Given the description of an element on the screen output the (x, y) to click on. 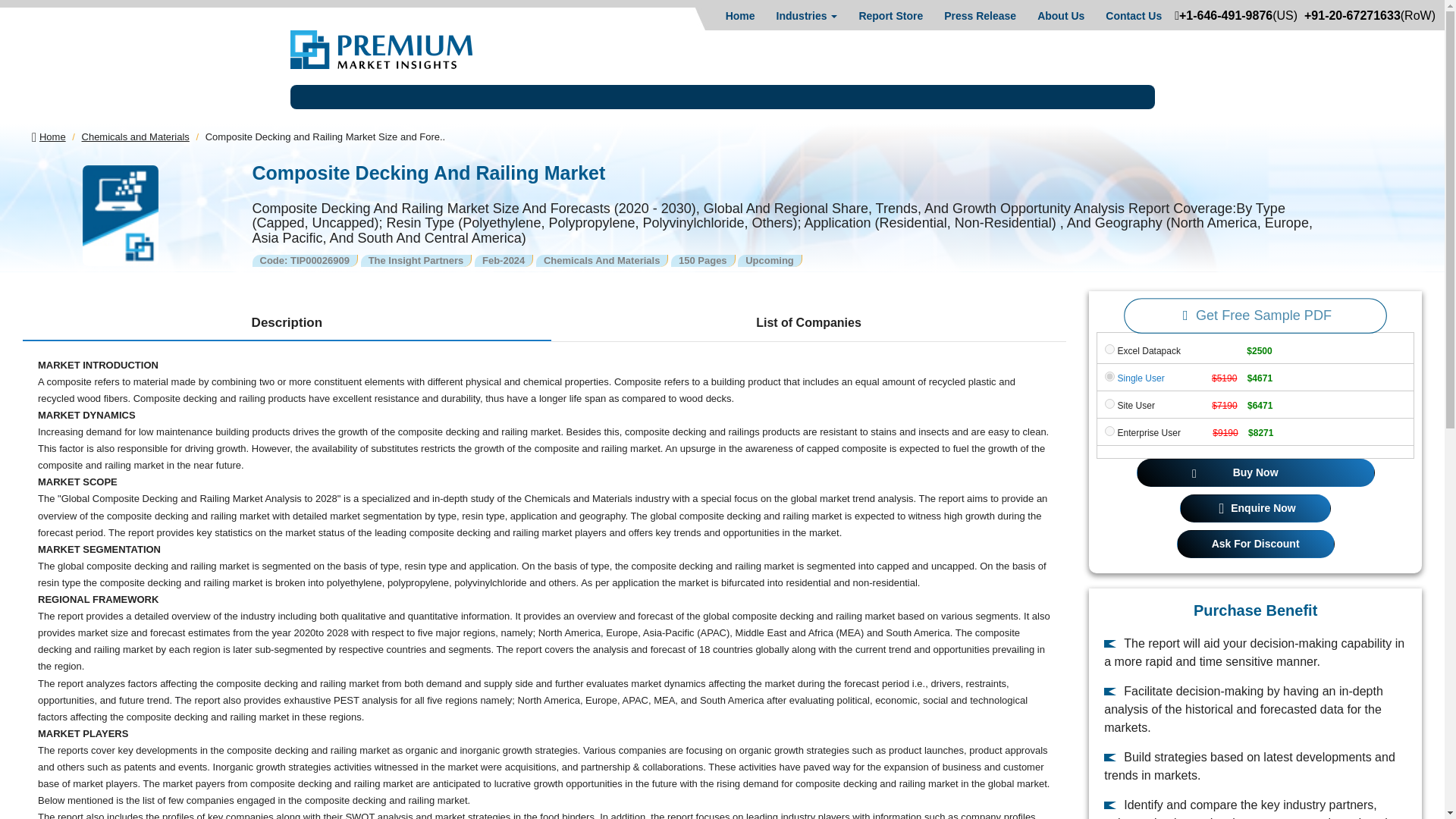
Report Store (891, 15)
Contact Us (1133, 15)
Home (740, 15)
Press Release (979, 15)
Industries (807, 15)
Logo (380, 48)
About Us (1060, 15)
Buy Now (1255, 472)
